Given the description of an element on the screen output the (x, y) to click on. 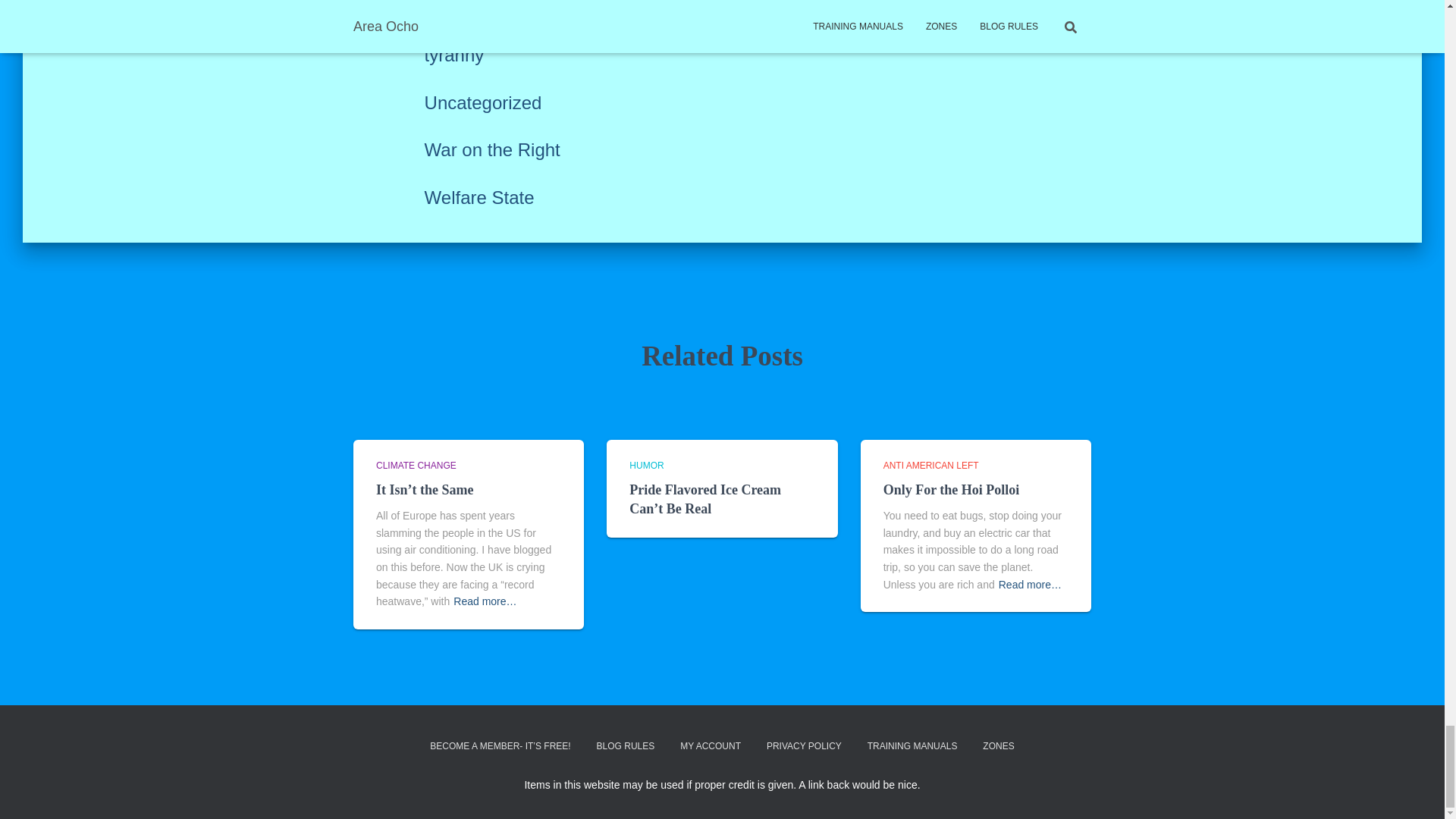
View all posts in climate change (416, 465)
View all posts in Anti American left (930, 465)
Only For the Hoi Polloi (951, 489)
View all posts in Humor (645, 465)
